Given the description of an element on the screen output the (x, y) to click on. 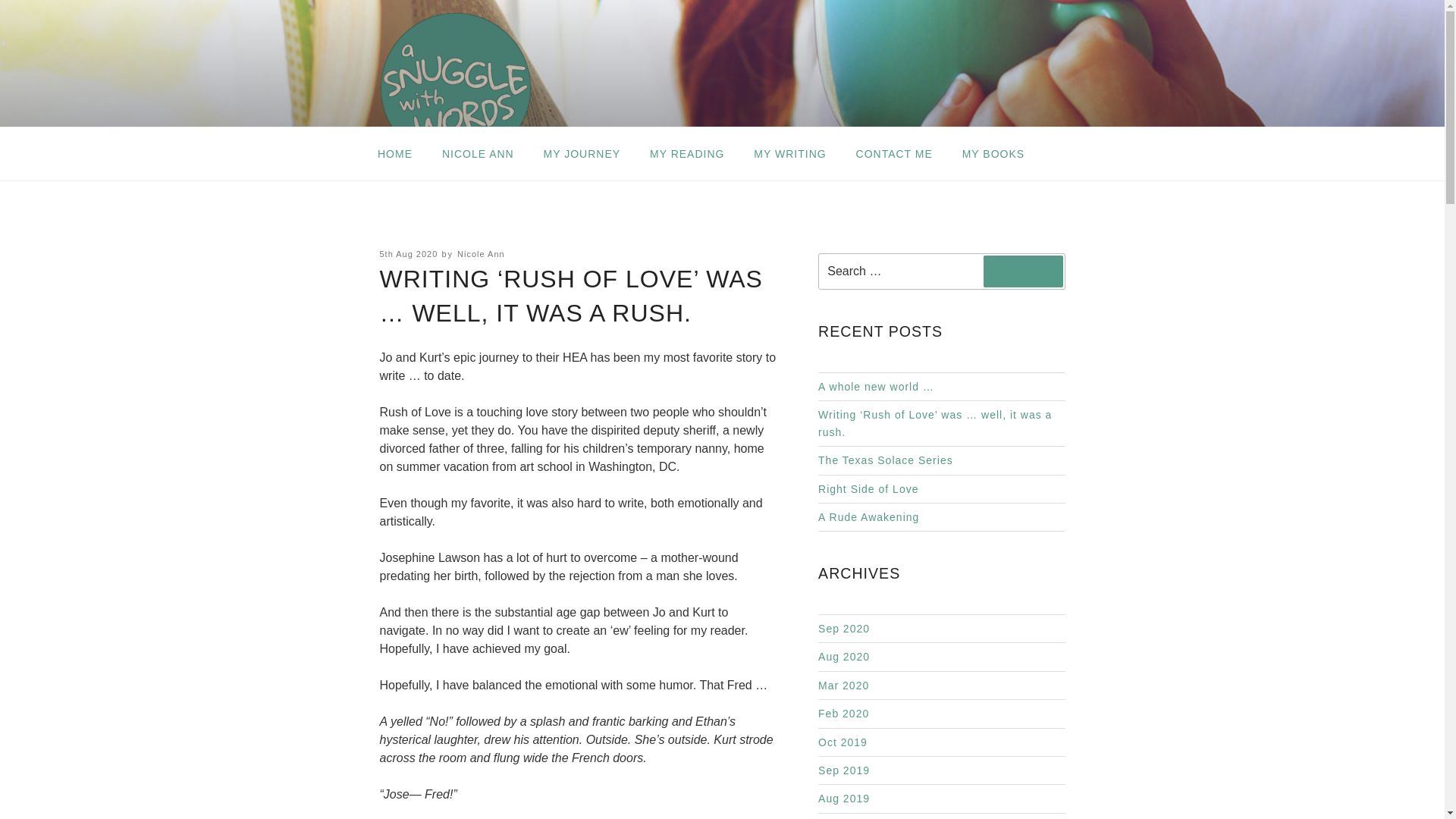
MY JOURNEY (581, 153)
Oct 2019 (842, 741)
The Texas Solace Series (885, 460)
A Snuggle with Words (561, 192)
Right Side of Love (868, 489)
Nicole Ann (481, 253)
Aug 2019 (843, 798)
Sep 2020 (843, 628)
5th Aug 2020 (408, 253)
Aug 2020 (843, 656)
CONTACT ME (893, 153)
MY BOOKS (992, 153)
Mar 2020 (843, 685)
MY WRITING (790, 153)
Sep 2019 (843, 770)
